Given the description of an element on the screen output the (x, y) to click on. 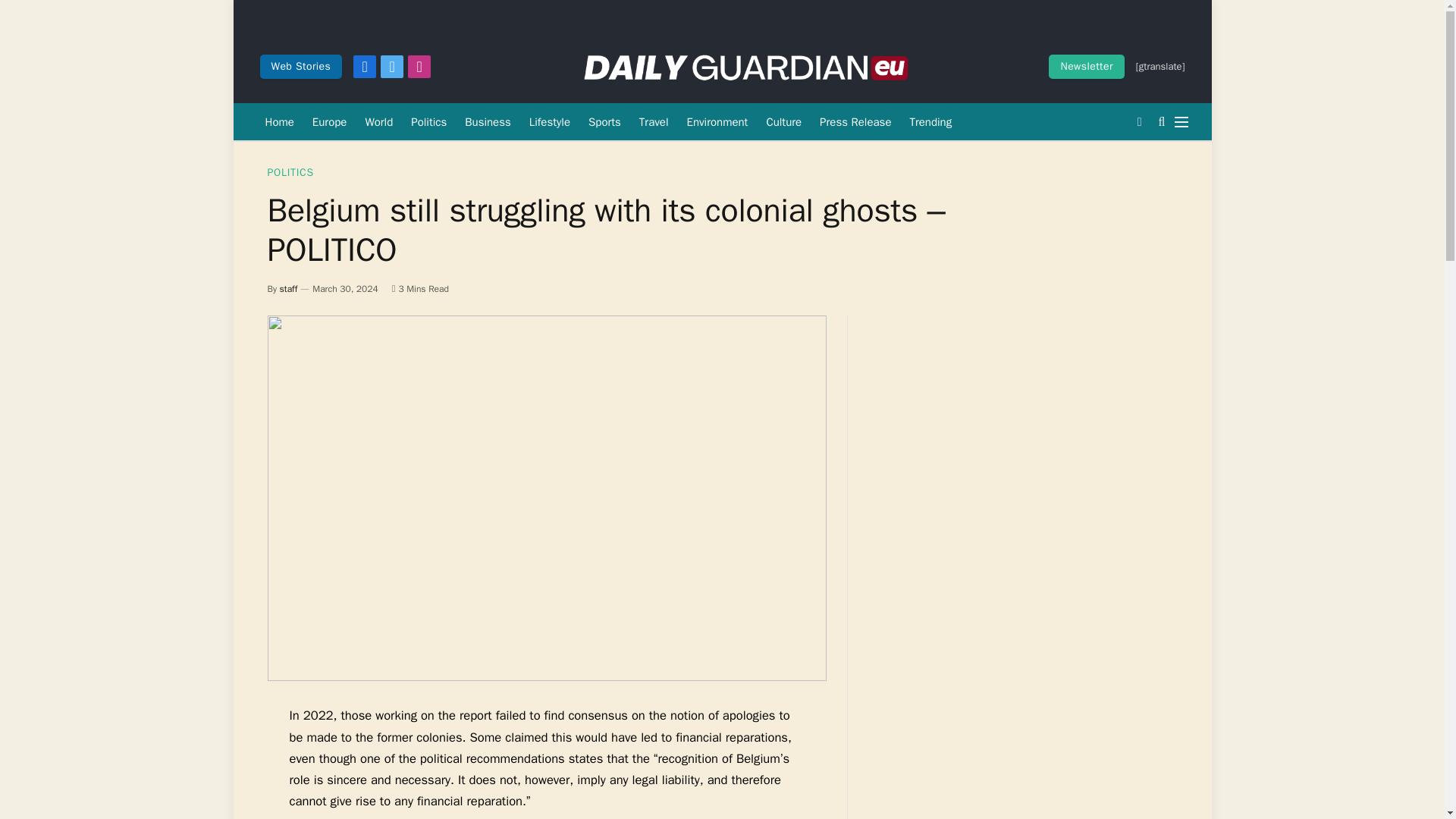
Web Stories (300, 66)
Travel (654, 121)
Posts by staff (288, 288)
World (378, 121)
Culture (783, 121)
Daily Guardian Europe (745, 66)
Newsletter (1086, 66)
Press Release (854, 121)
Instagram (418, 66)
Home (279, 121)
